Given the description of an element on the screen output the (x, y) to click on. 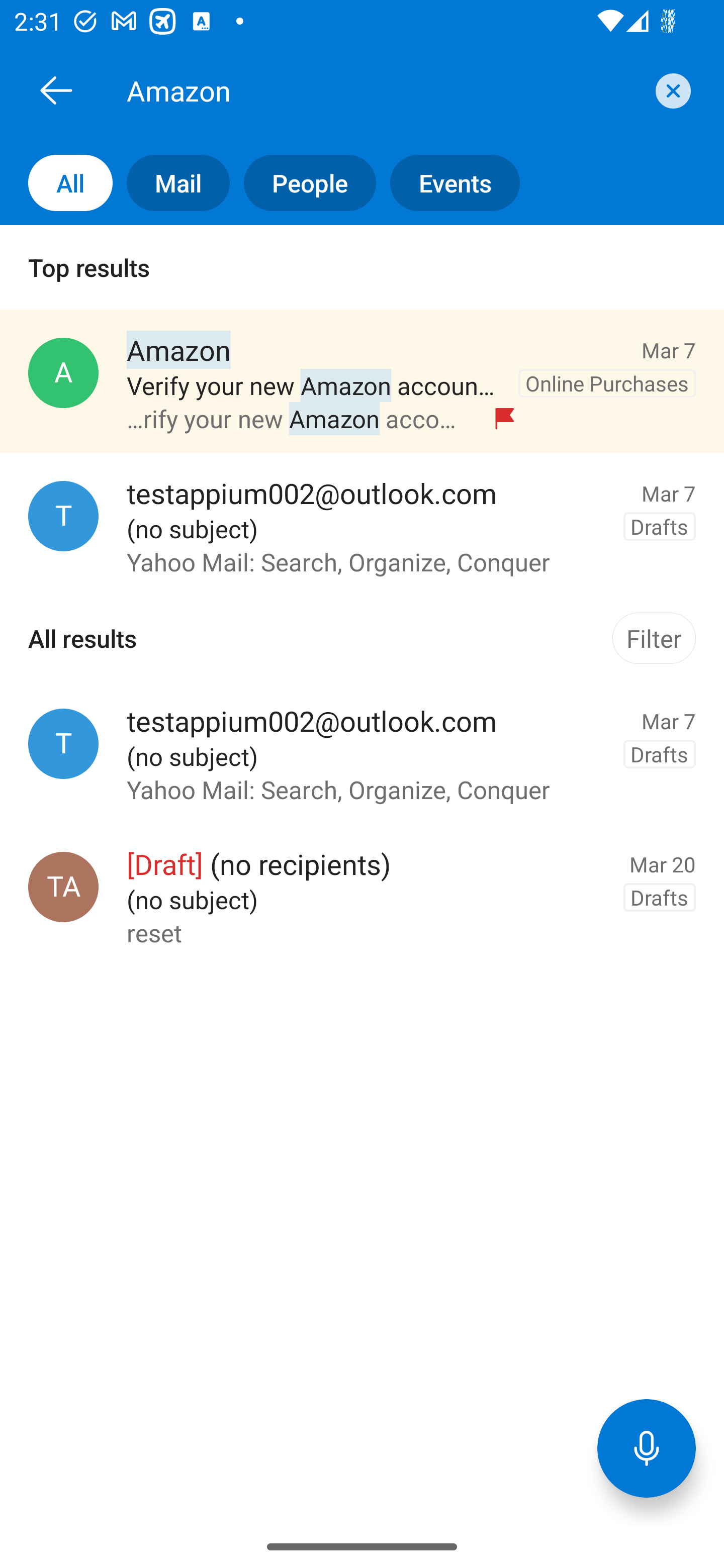
Back (55, 89)
Amazon (384, 89)
clear search (670, 90)
Mail (170, 183)
People (302, 183)
Events (447, 183)
Filter (653, 638)
Voice Assistant (646, 1447)
